Given the description of an element on the screen output the (x, y) to click on. 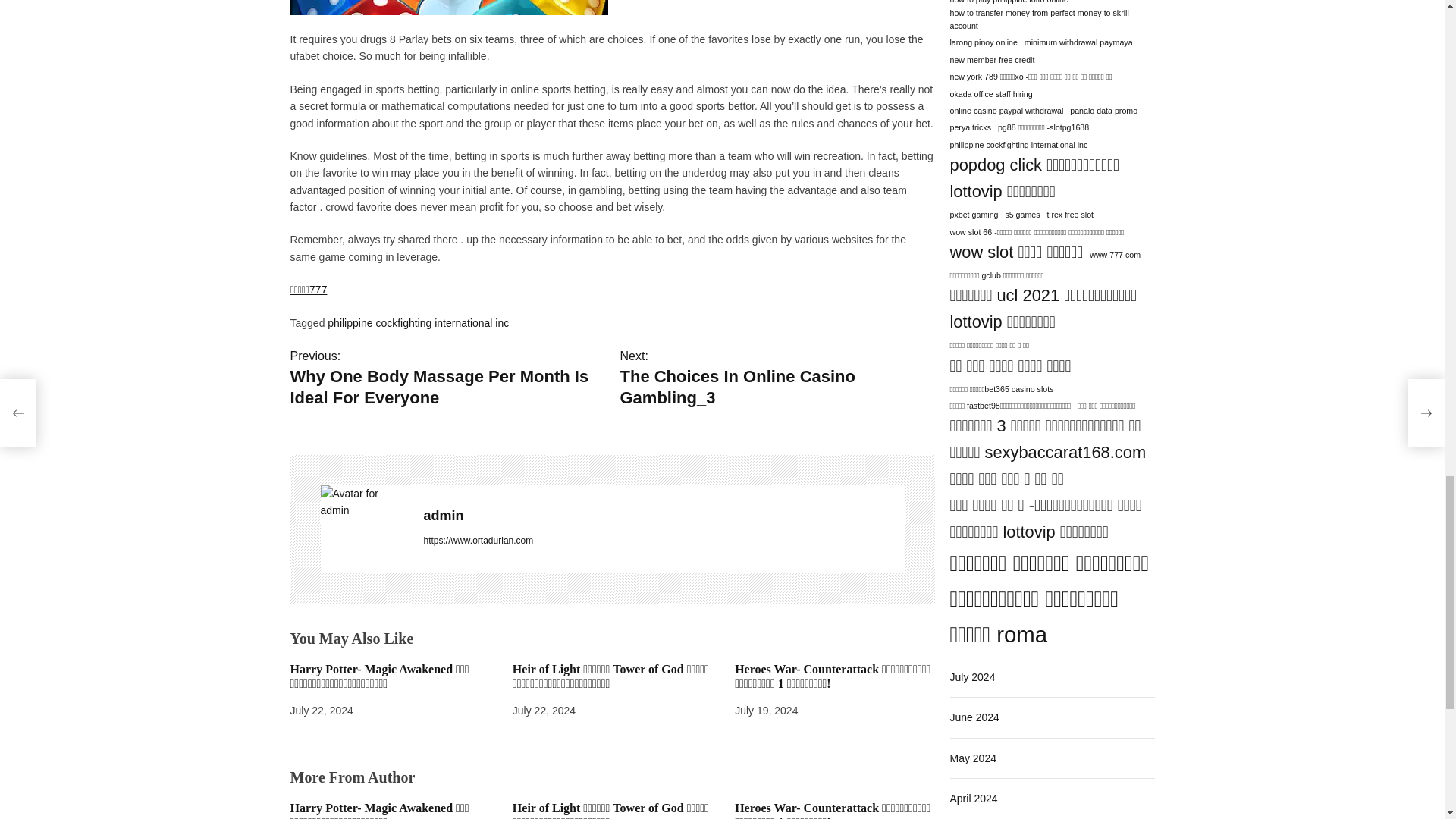
admin (663, 427)
admin (363, 414)
admin (663, 427)
philippine cockfighting international inc (417, 234)
